Given the description of an element on the screen output the (x, y) to click on. 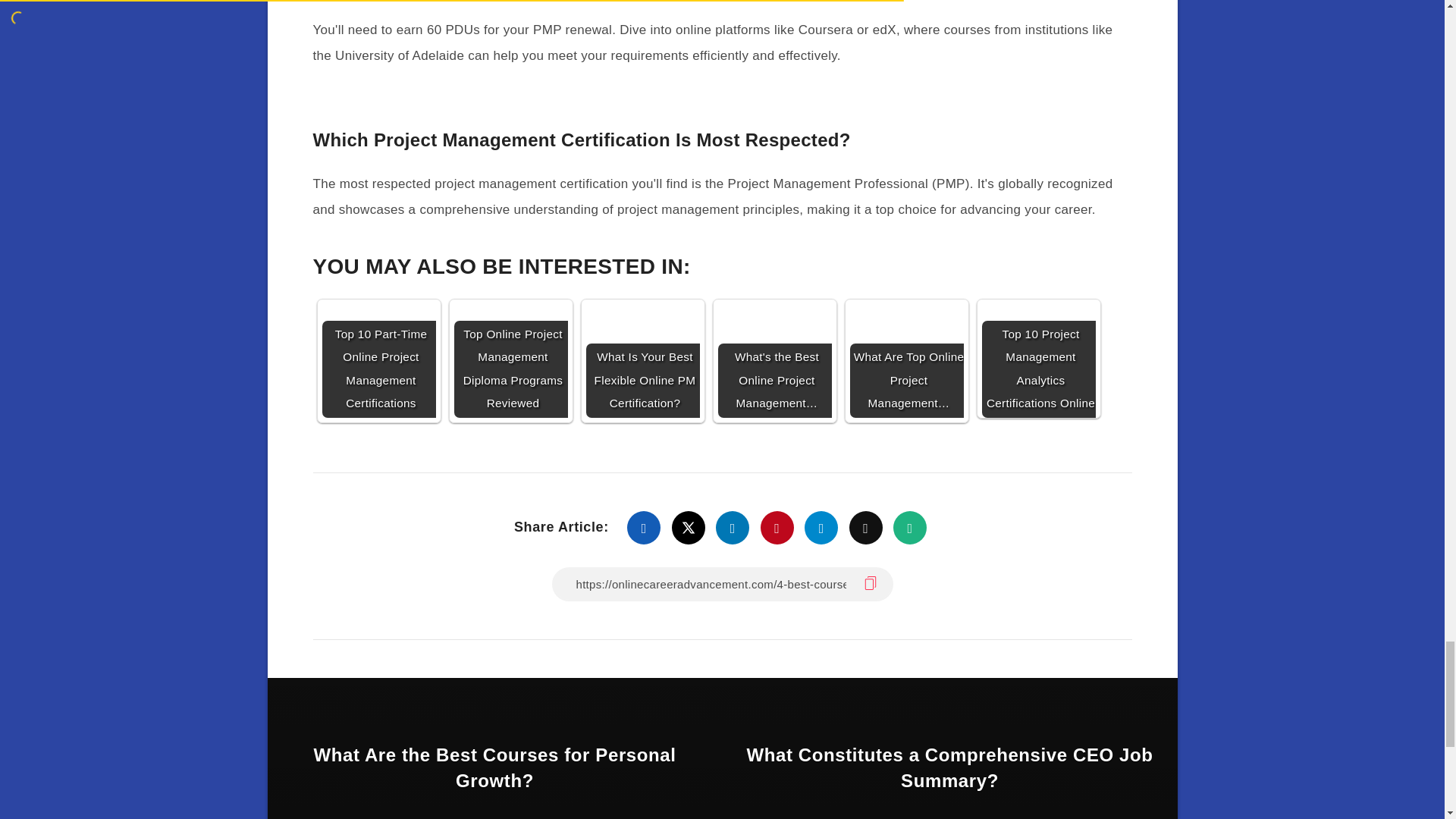
Top 10 Part-Time Online Project Management Certifications (378, 360)
What Is Your Best Flexible Online PM Certification? (641, 360)
Top 10 Project Management Analytics Certifications Online (1037, 360)
Top Online Project Management Diploma Programs Reviewed (509, 360)
